Given the description of an element on the screen output the (x, y) to click on. 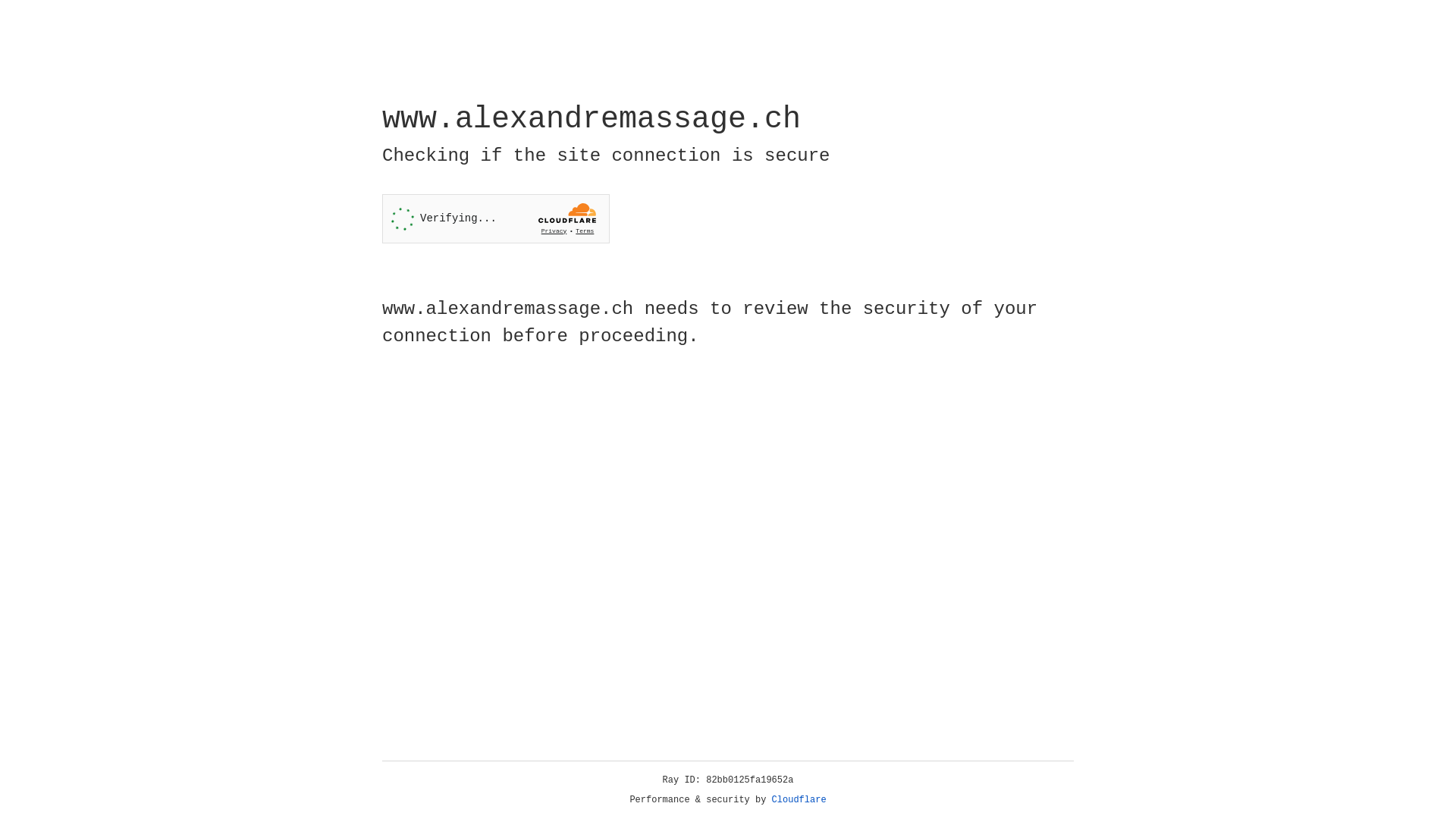
Cloudflare Element type: text (798, 799)
Widget containing a Cloudflare security challenge Element type: hover (495, 218)
